Given the description of an element on the screen output the (x, y) to click on. 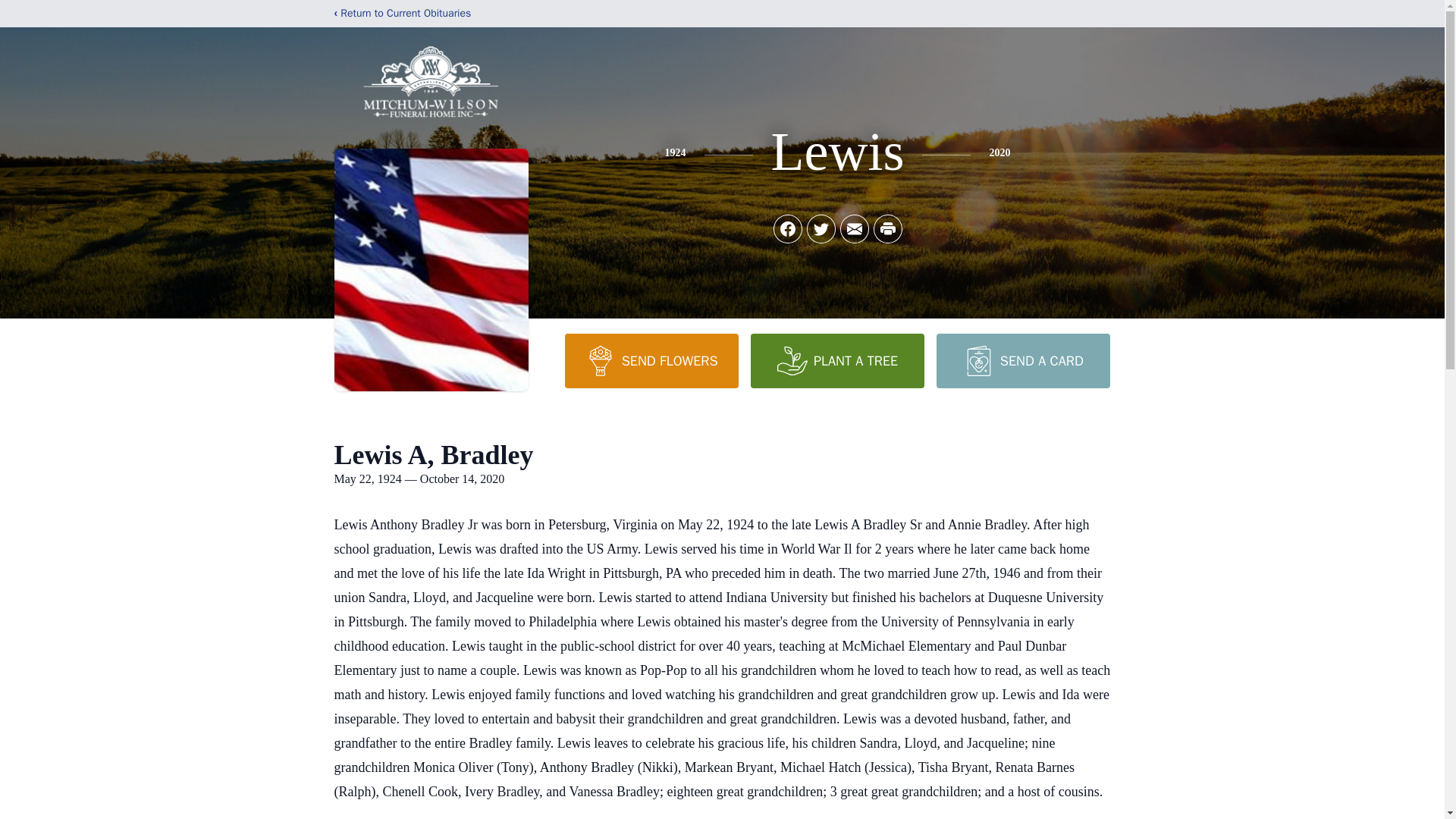
SEND FLOWERS (651, 360)
PLANT A TREE (837, 360)
SEND A CARD (1022, 360)
